Given the description of an element on the screen output the (x, y) to click on. 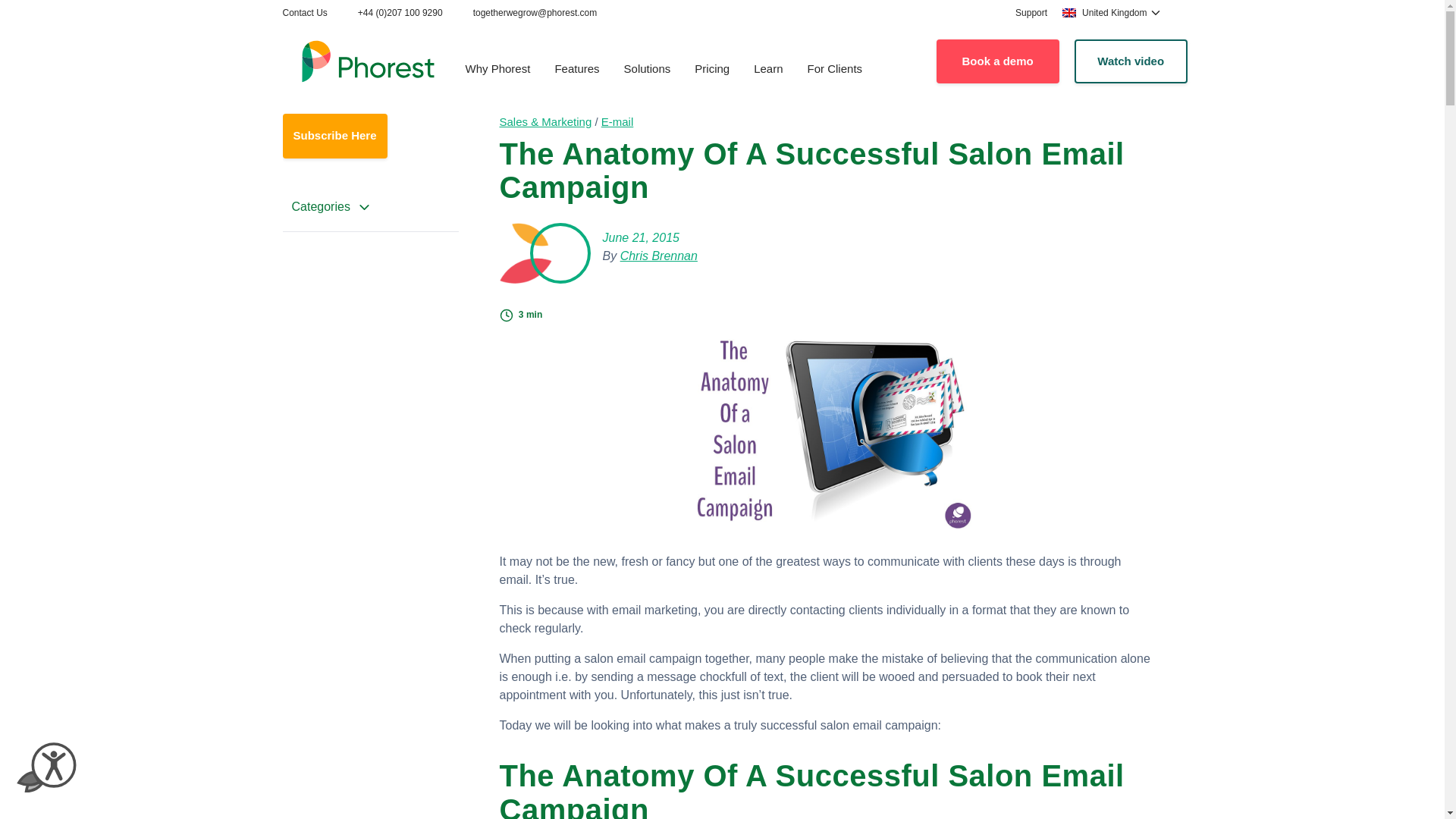
Contact Us (304, 12)
Why Phorest (497, 69)
Features (576, 69)
Support (1030, 12)
